Given the description of an element on the screen output the (x, y) to click on. 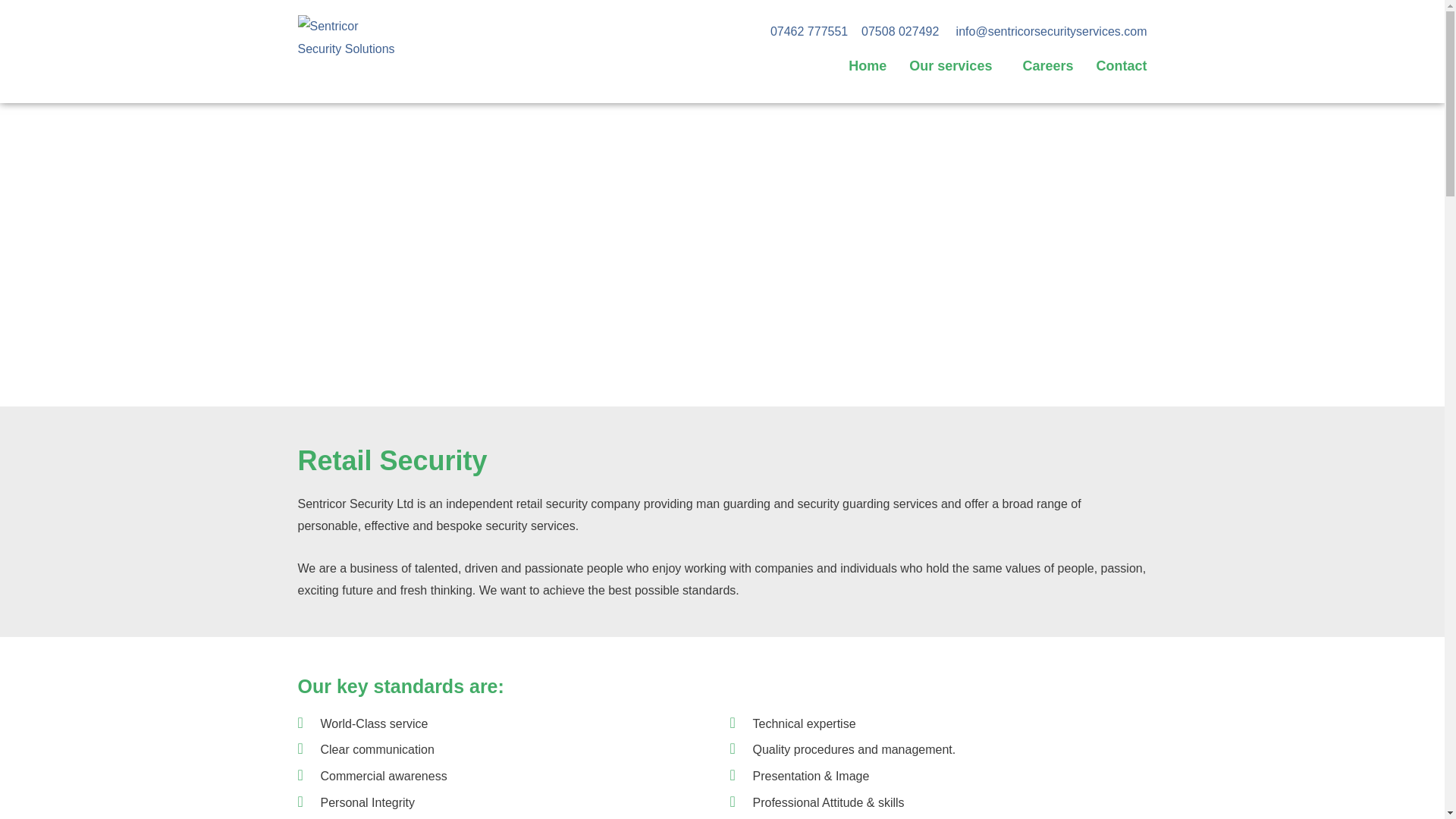
Home (867, 66)
Careers (1047, 66)
07462 777551 (808, 31)
07508 027492 (900, 31)
Contact (1121, 66)
Our services (953, 66)
